Given the description of an element on the screen output the (x, y) to click on. 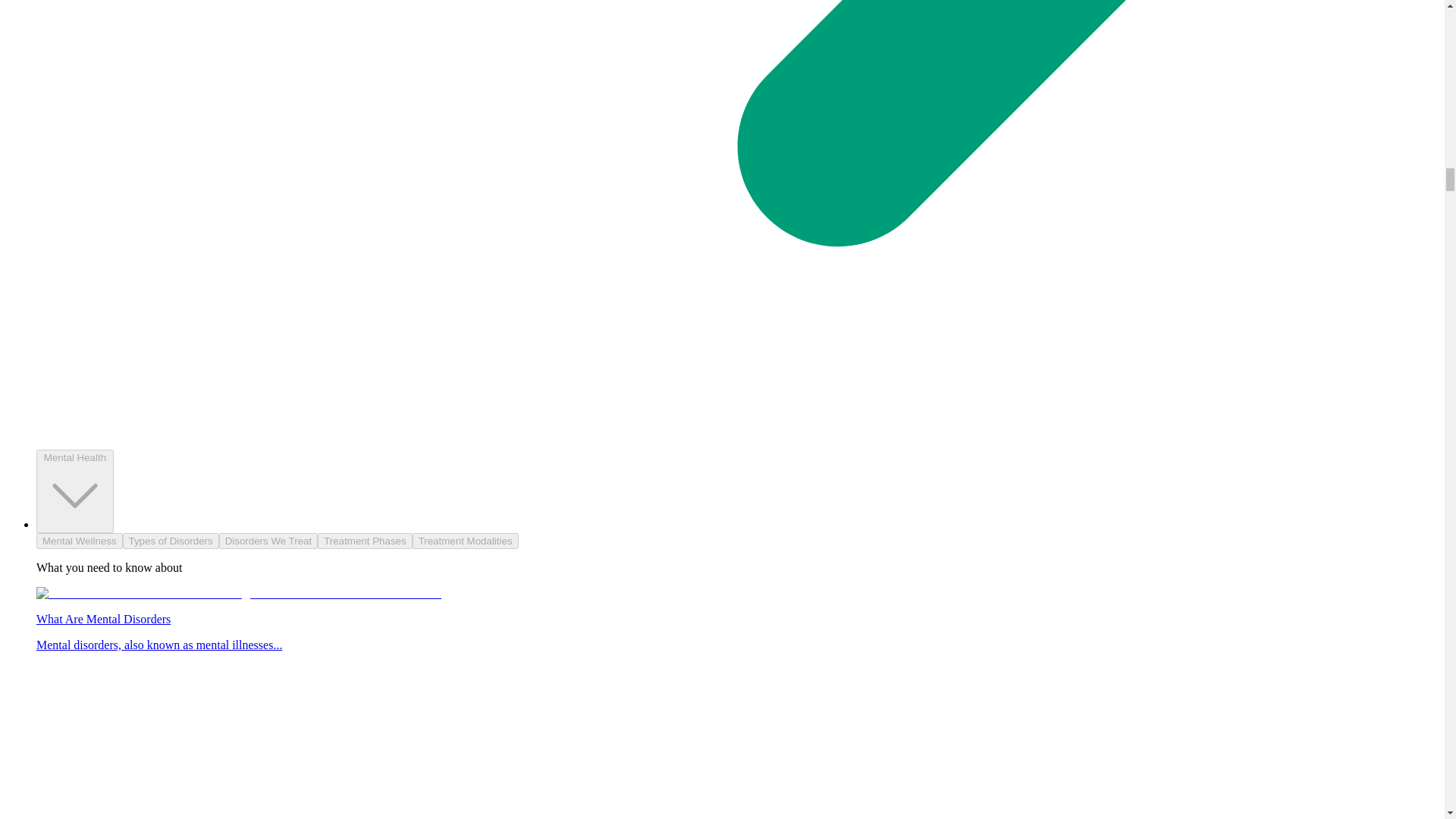
Mental Health (74, 491)
Types of Disorders (170, 540)
Treatment Phases (364, 540)
Treatment Modalities (465, 540)
Mental Wellness (79, 540)
Disorders We Treat (268, 540)
